Given the description of an element on the screen output the (x, y) to click on. 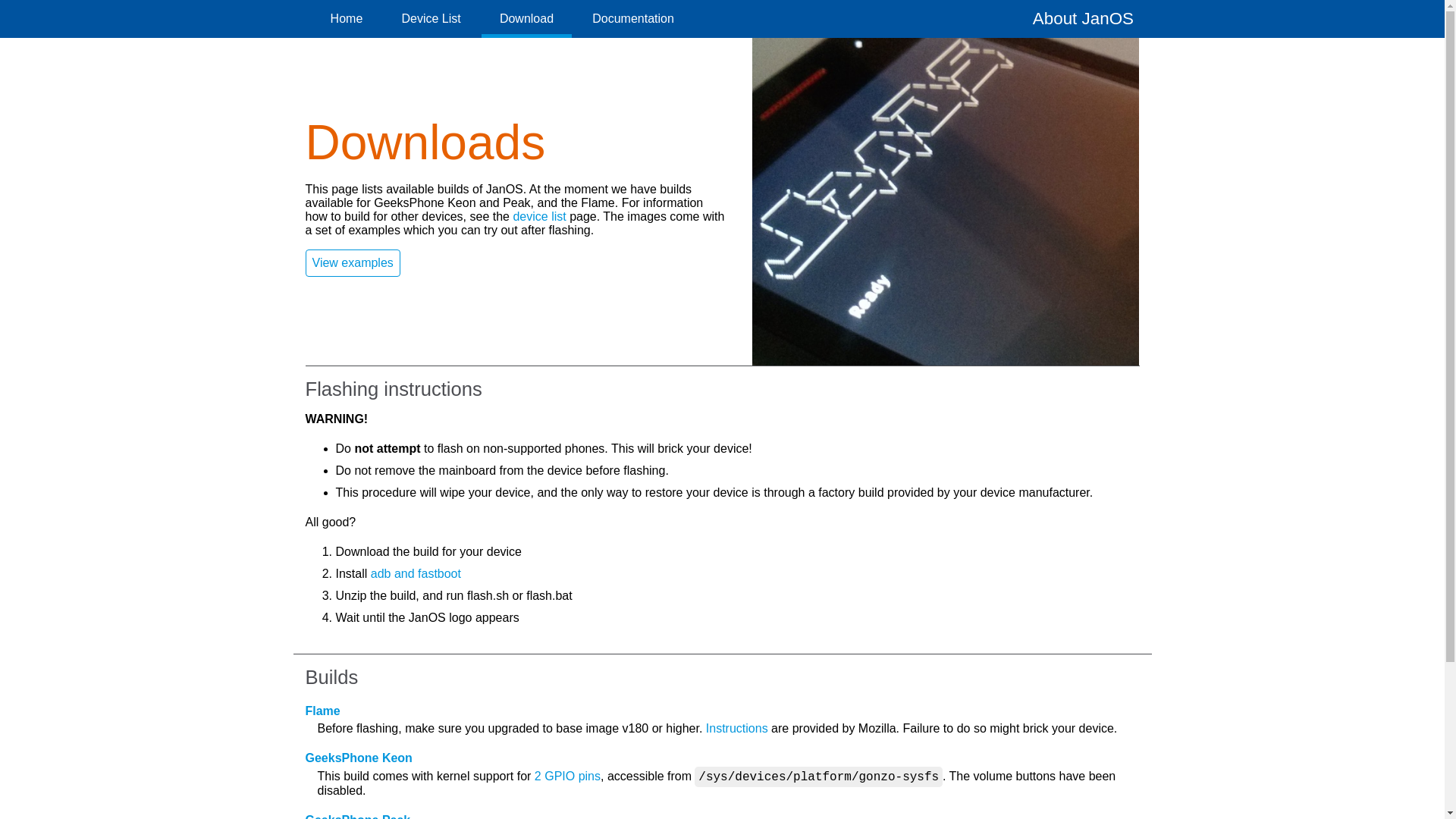
Device List (430, 18)
device list (539, 215)
Home (347, 18)
Download (526, 18)
Instructions (737, 727)
GeeksPhone Peak (357, 816)
adb and fastboot (416, 573)
About JanOS (1083, 18)
Flame (321, 710)
2 GPIO pins (566, 775)
Flame with screen attached after flashing (945, 201)
View examples (351, 262)
GeeksPhone Keon (358, 757)
Documentation (633, 18)
